Given the description of an element on the screen output the (x, y) to click on. 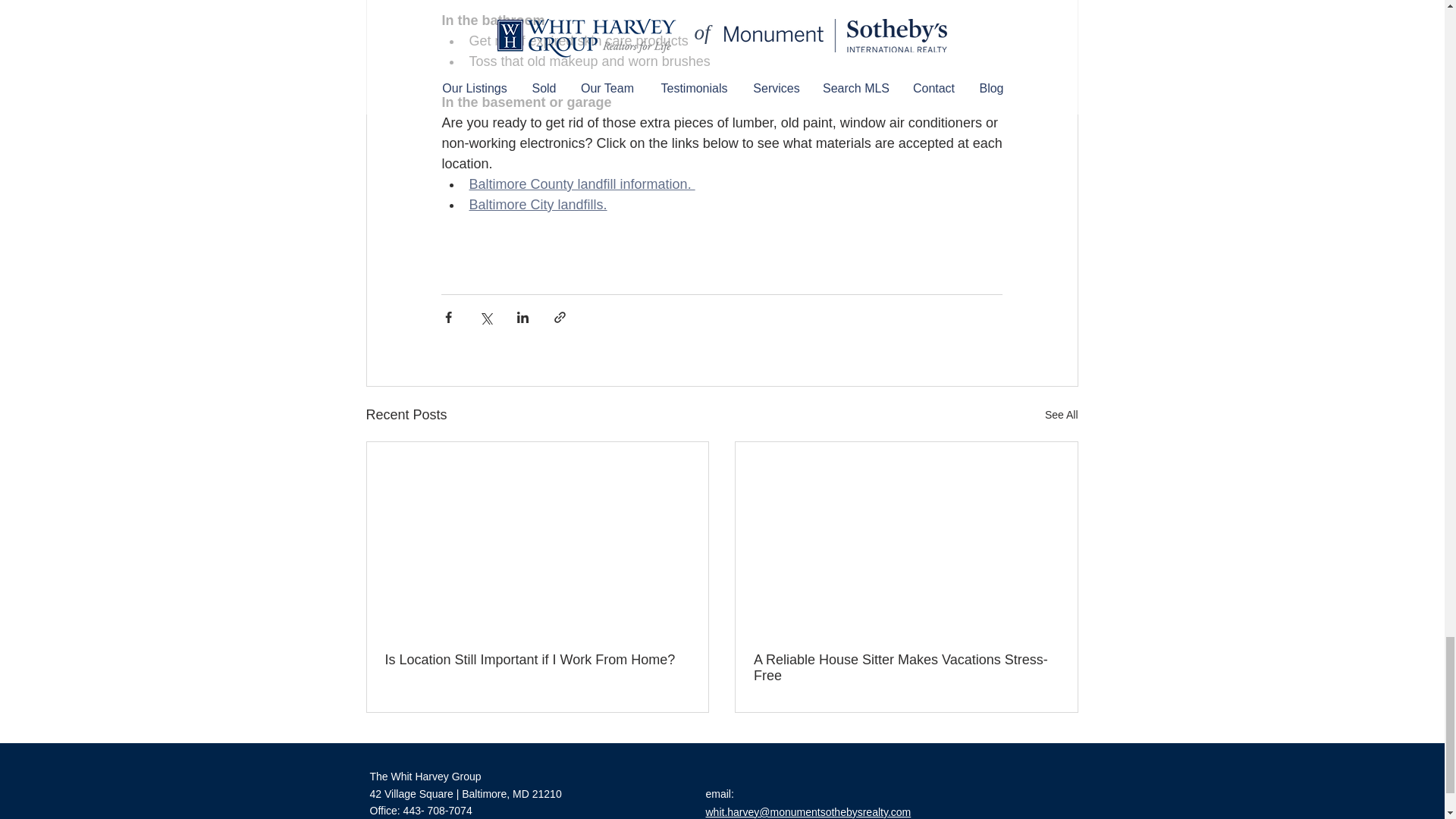
Is Location Still Important if I Work From Home? (537, 659)
See All (1061, 414)
Baltimore City landfills. (537, 204)
Baltimore County landfill information.  (581, 183)
